Given the description of an element on the screen output the (x, y) to click on. 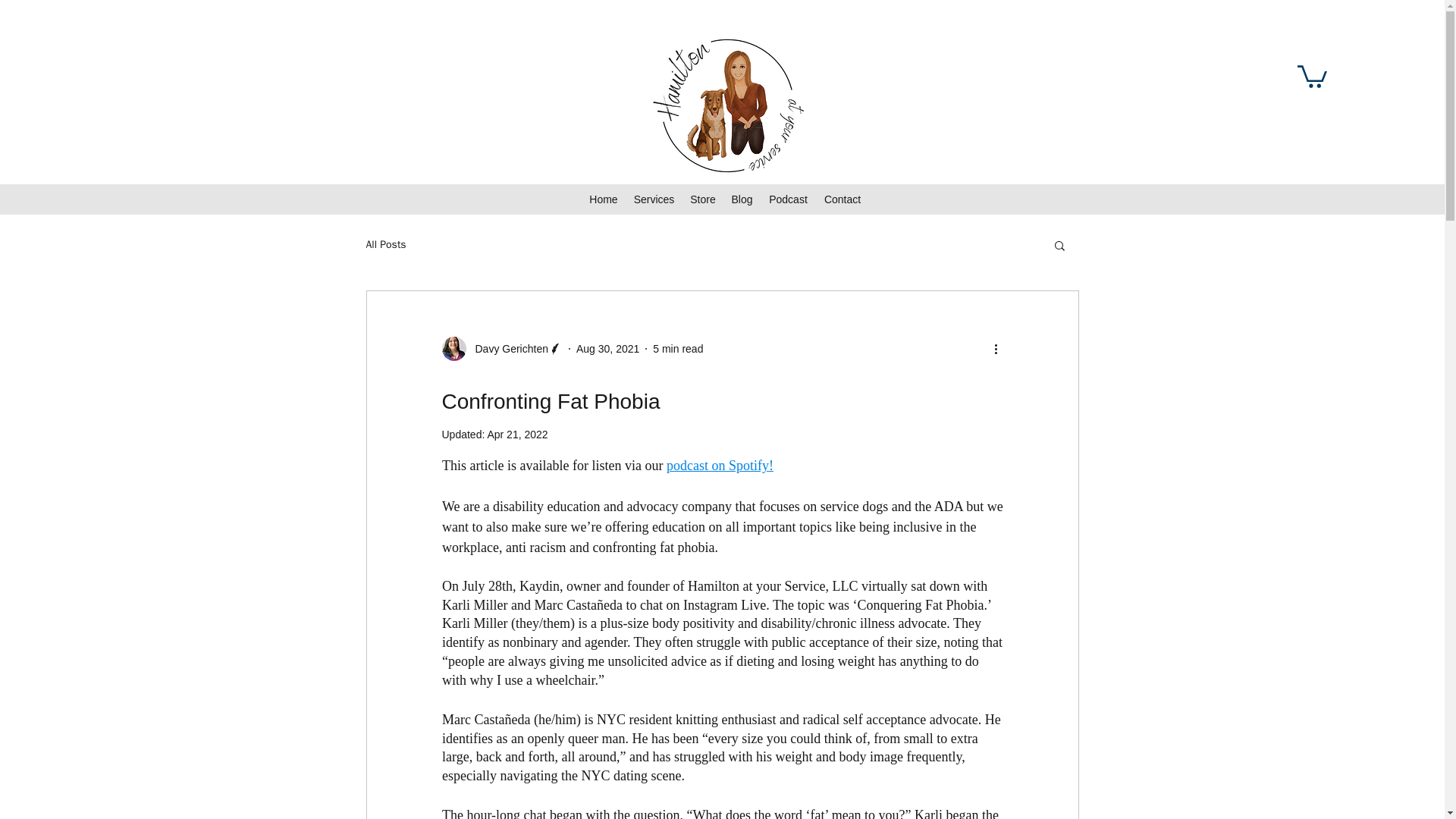
podcast on Spotify (716, 465)
Aug 30, 2021 (607, 348)
All Posts (385, 244)
Home (603, 199)
Blog (741, 199)
Podcast (787, 199)
Contact (842, 199)
5 min read (677, 348)
Davy Gerichten (506, 349)
Services (654, 199)
Apr 21, 2022 (516, 434)
Davy Gerichten (501, 348)
Store (702, 199)
